Given the description of an element on the screen output the (x, y) to click on. 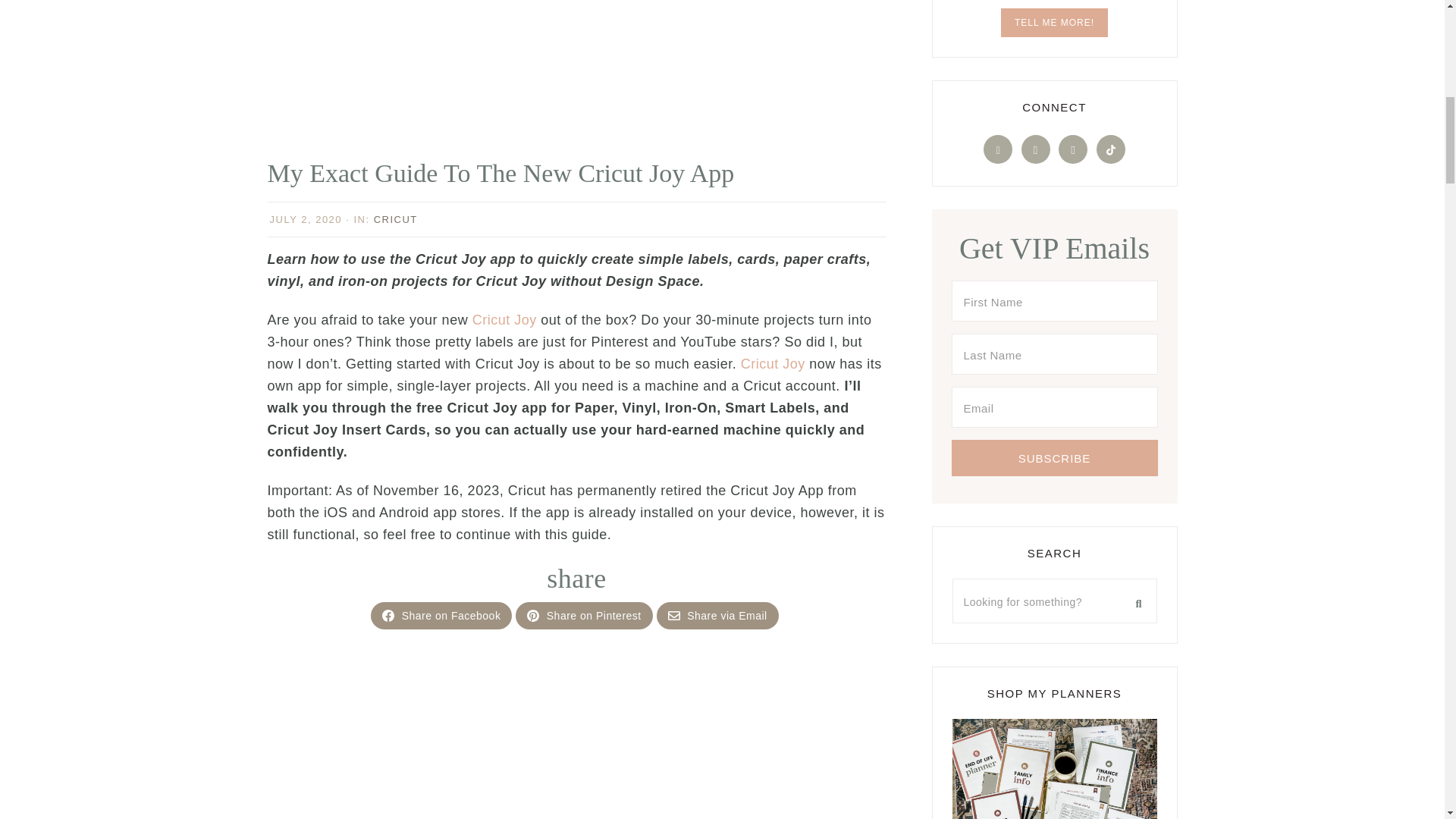
CRICUT (395, 219)
Cricut Joy (773, 363)
Share on Facebook Share on Facebook (441, 615)
Cricut Joy (504, 319)
Share on Pinterest (583, 615)
Share on Pinterest (532, 615)
Share via Email (717, 615)
Share on Facebook (441, 615)
Share on Pinterest Share on Pinterest (583, 615)
Subscribe (1053, 457)
Share via Email (673, 615)
Share via Email Share via Email (717, 615)
Share on Facebook (387, 615)
